Given the description of an element on the screen output the (x, y) to click on. 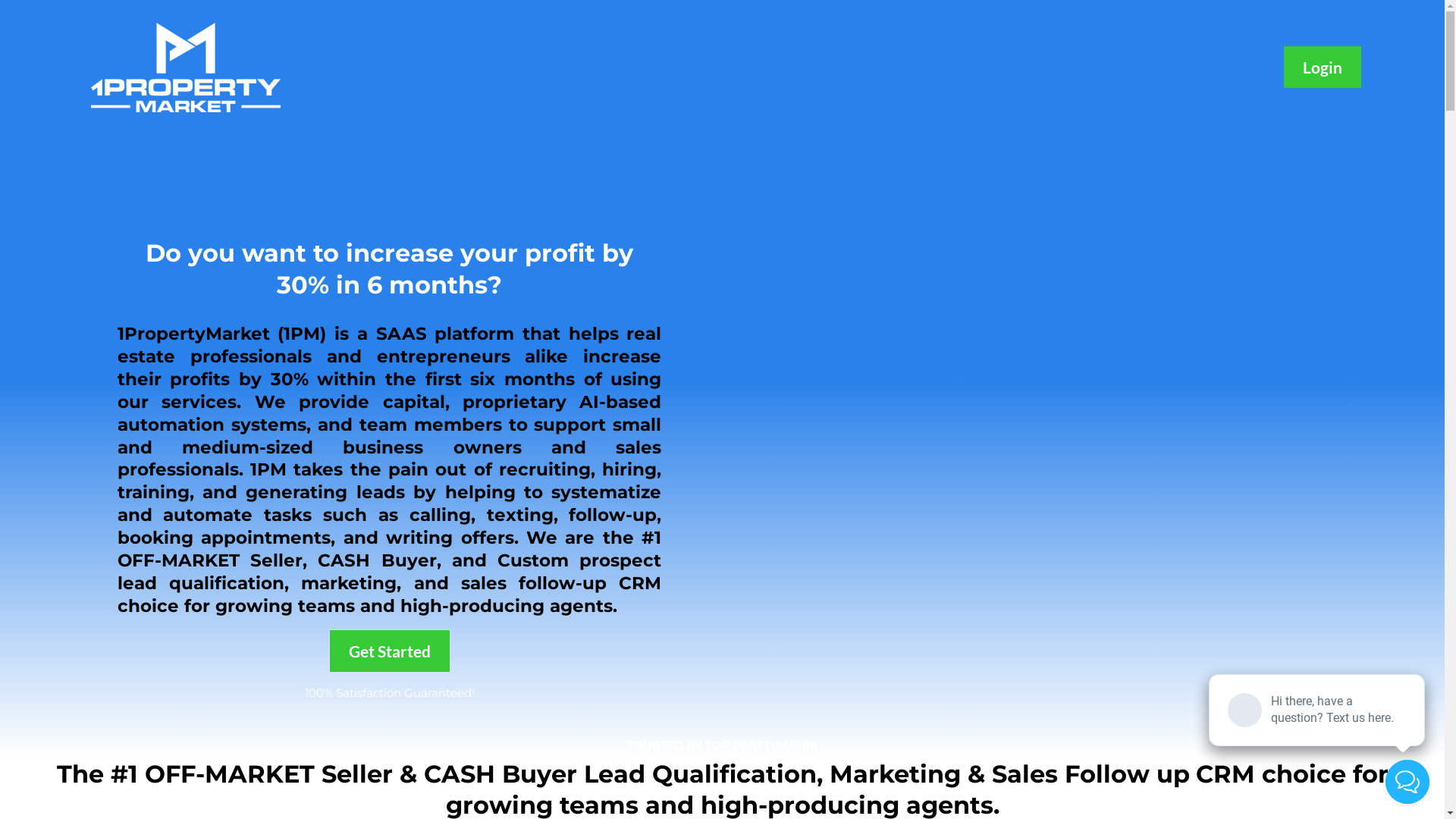
Get Started Element type: text (389, 650)
Login Element type: text (1322, 66)
